Given the description of an element on the screen output the (x, y) to click on. 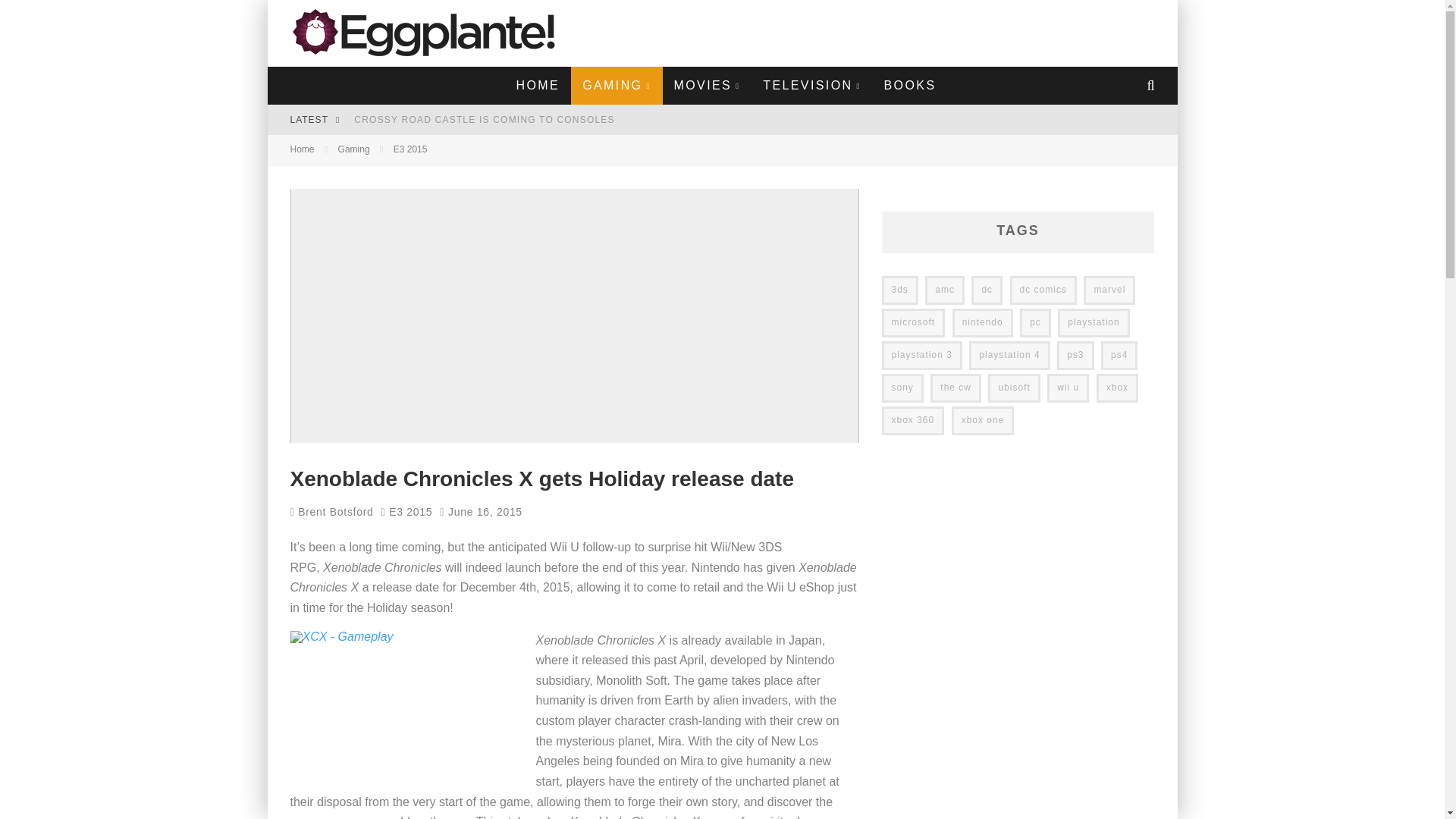
HOME (538, 85)
GAMING (616, 85)
TELEVISION (811, 85)
Crossy Road Castle is coming to consoles (483, 119)
MOVIES (707, 85)
